Given the description of an element on the screen output the (x, y) to click on. 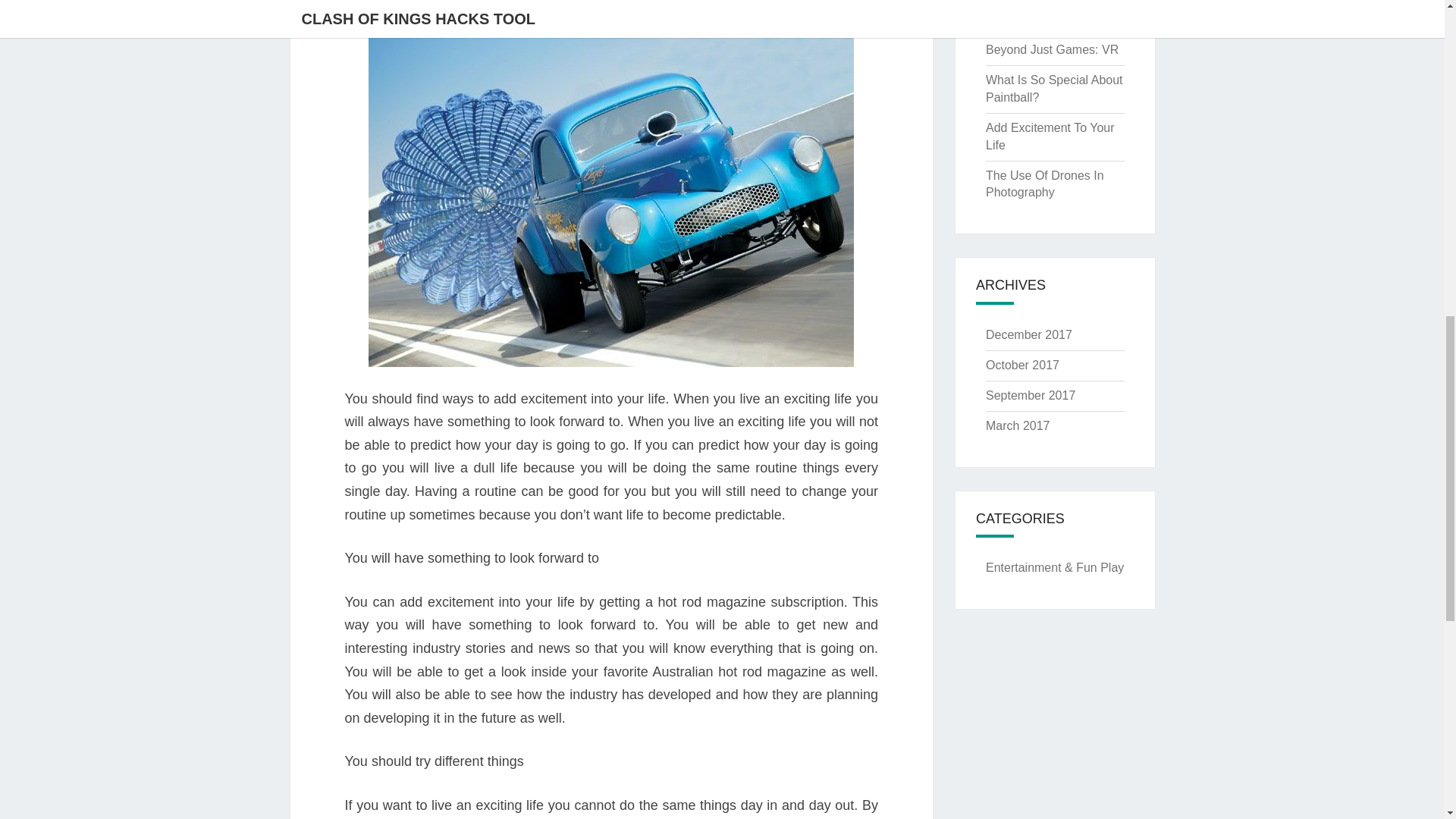
March 2017 (1017, 425)
September 2017 (1030, 395)
December 2017 (1028, 334)
Add Excitement To Your Life (1050, 136)
Beyond Just Games: VR (1051, 49)
What Is So Special About Paintball? (1053, 88)
The Use Of Drones In Photography (1044, 183)
October 2017 (1022, 364)
